Given the description of an element on the screen output the (x, y) to click on. 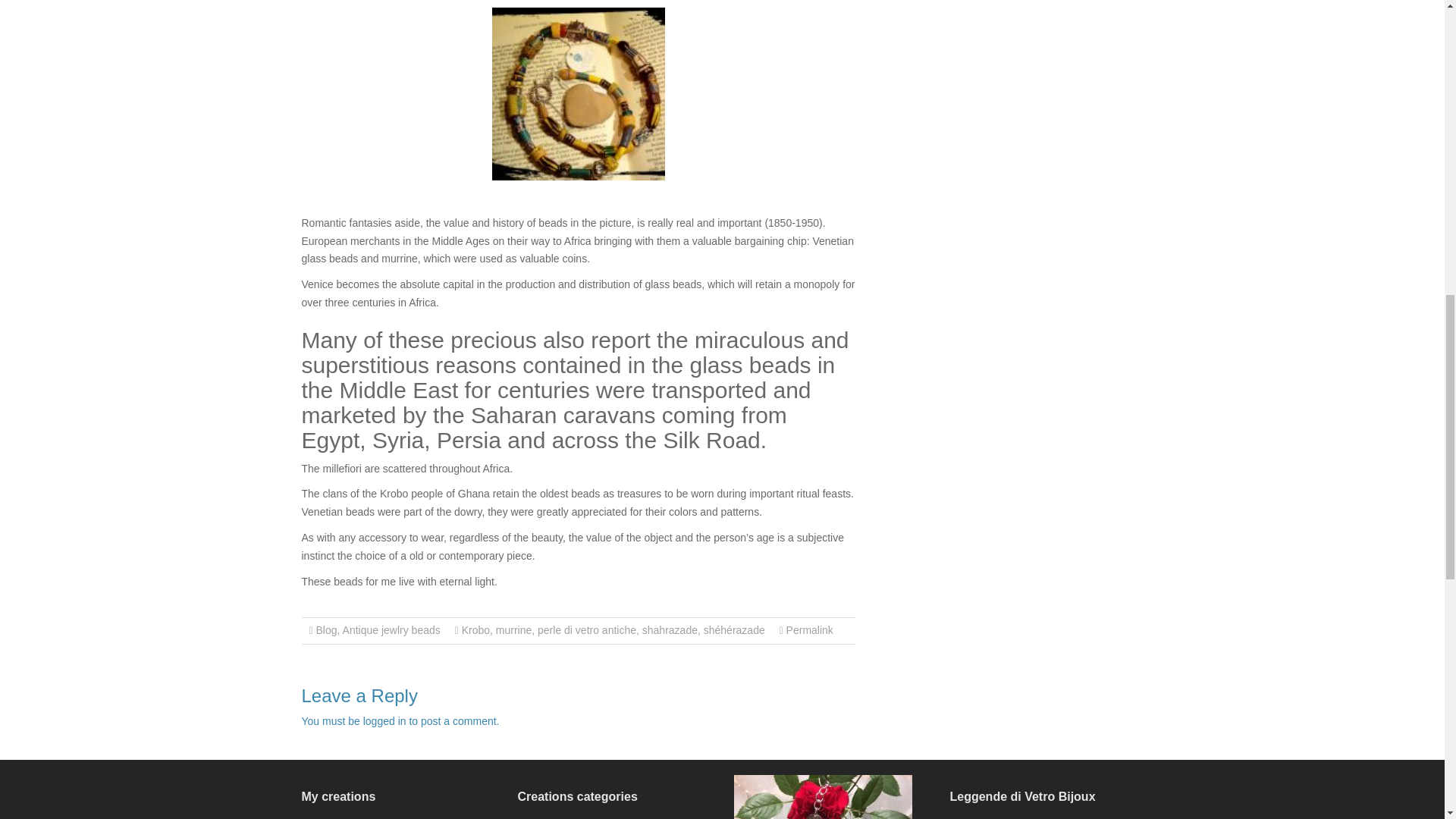
Antique jewlry beads (391, 630)
perle di vetro antiche (586, 630)
murrine (513, 630)
Permalink (809, 630)
Krobo (475, 630)
Blog (326, 630)
shahrazade (669, 630)
logged in (384, 720)
